Given the description of an element on the screen output the (x, y) to click on. 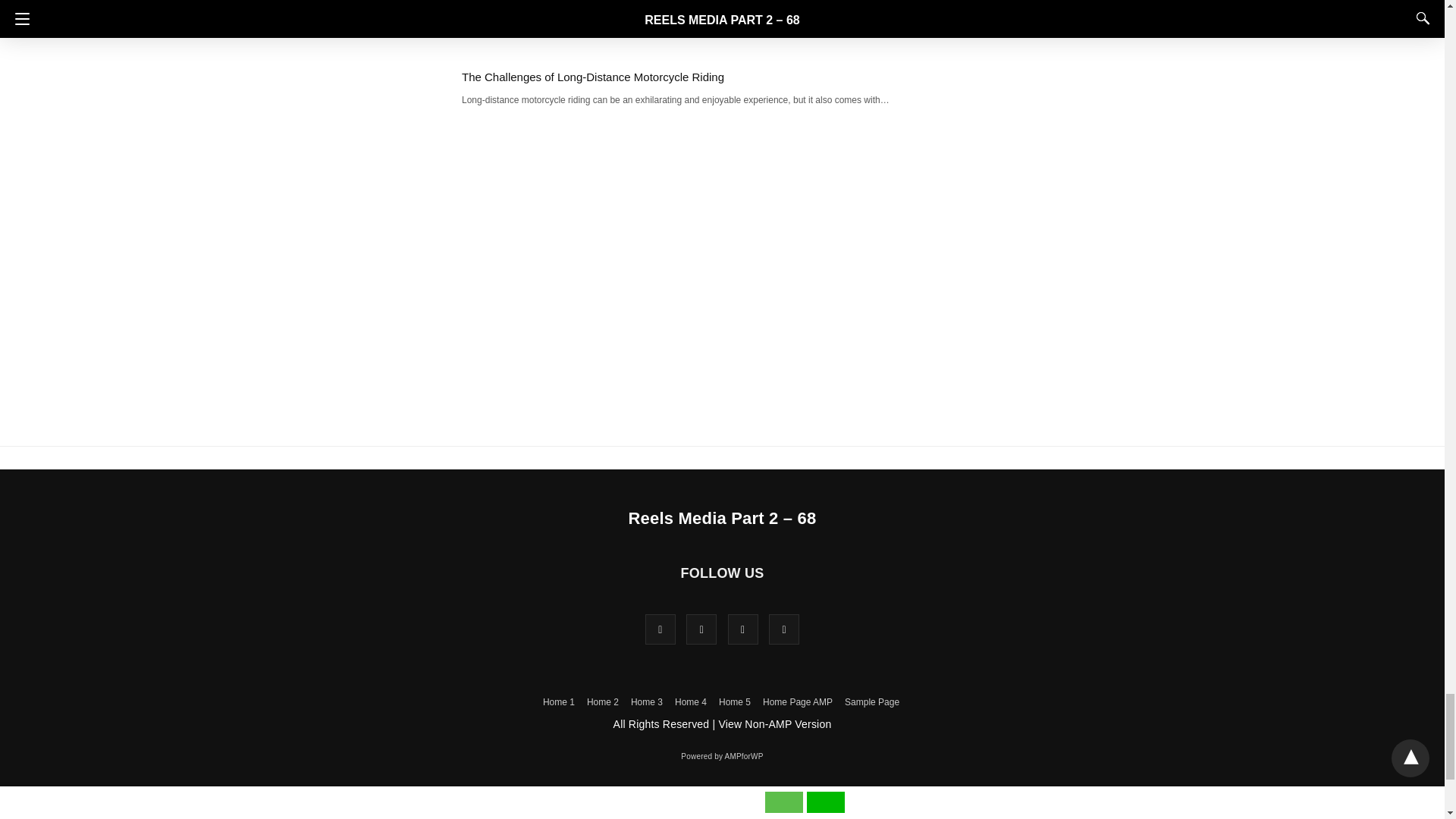
Home 1 (559, 702)
Sample Page (871, 702)
The Challenges of Long-Distance Motorcycle Riding (592, 76)
View Non-AMP Version (774, 724)
Powered by AMPforWP (721, 756)
Home Page AMP (797, 702)
Home 5 (735, 702)
Home 2 (602, 702)
Home 4 (690, 702)
Home 3 (646, 702)
